Given the description of an element on the screen output the (x, y) to click on. 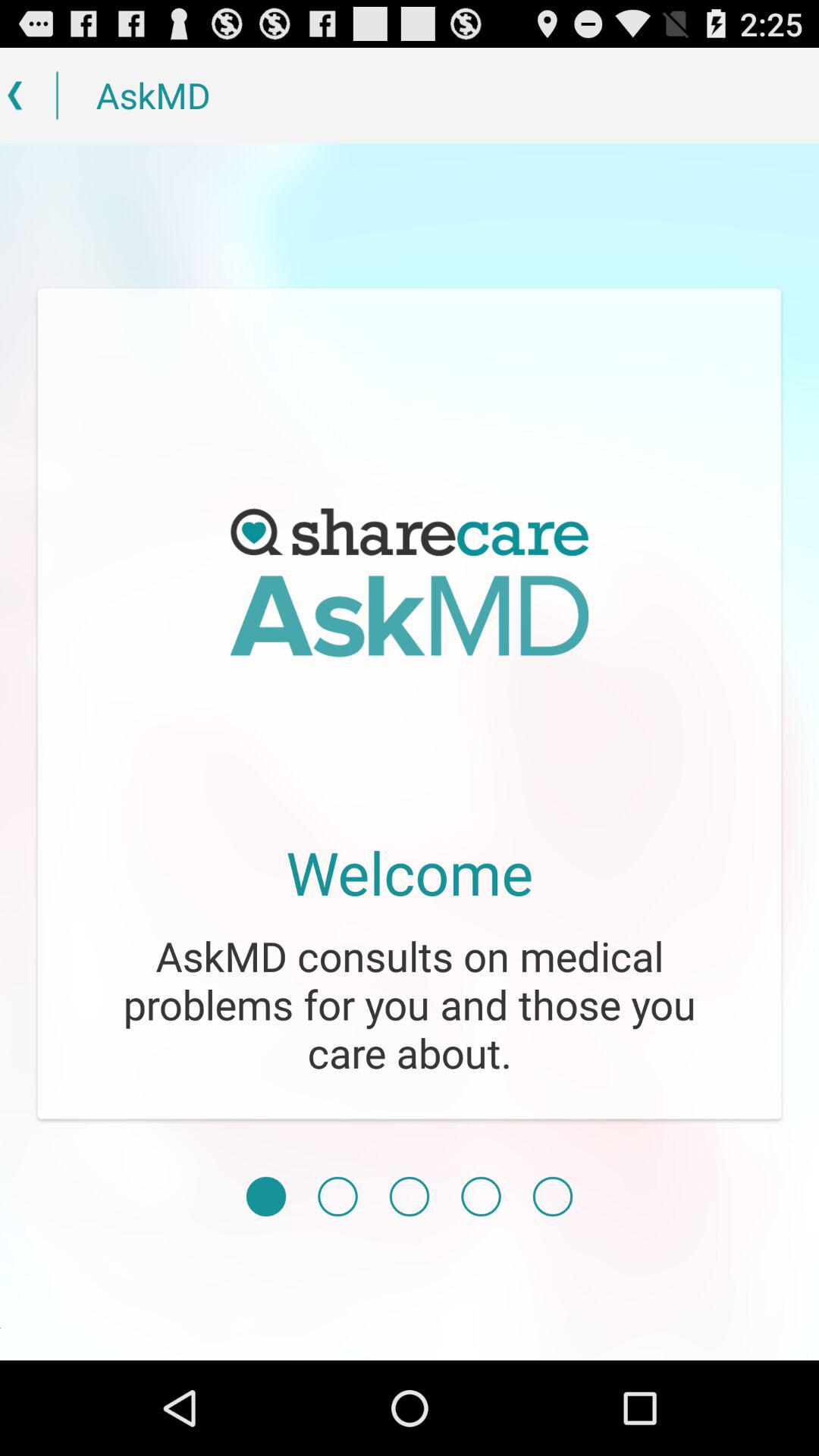
select the item below the askmd consults on icon (337, 1196)
